Given the description of an element on the screen output the (x, y) to click on. 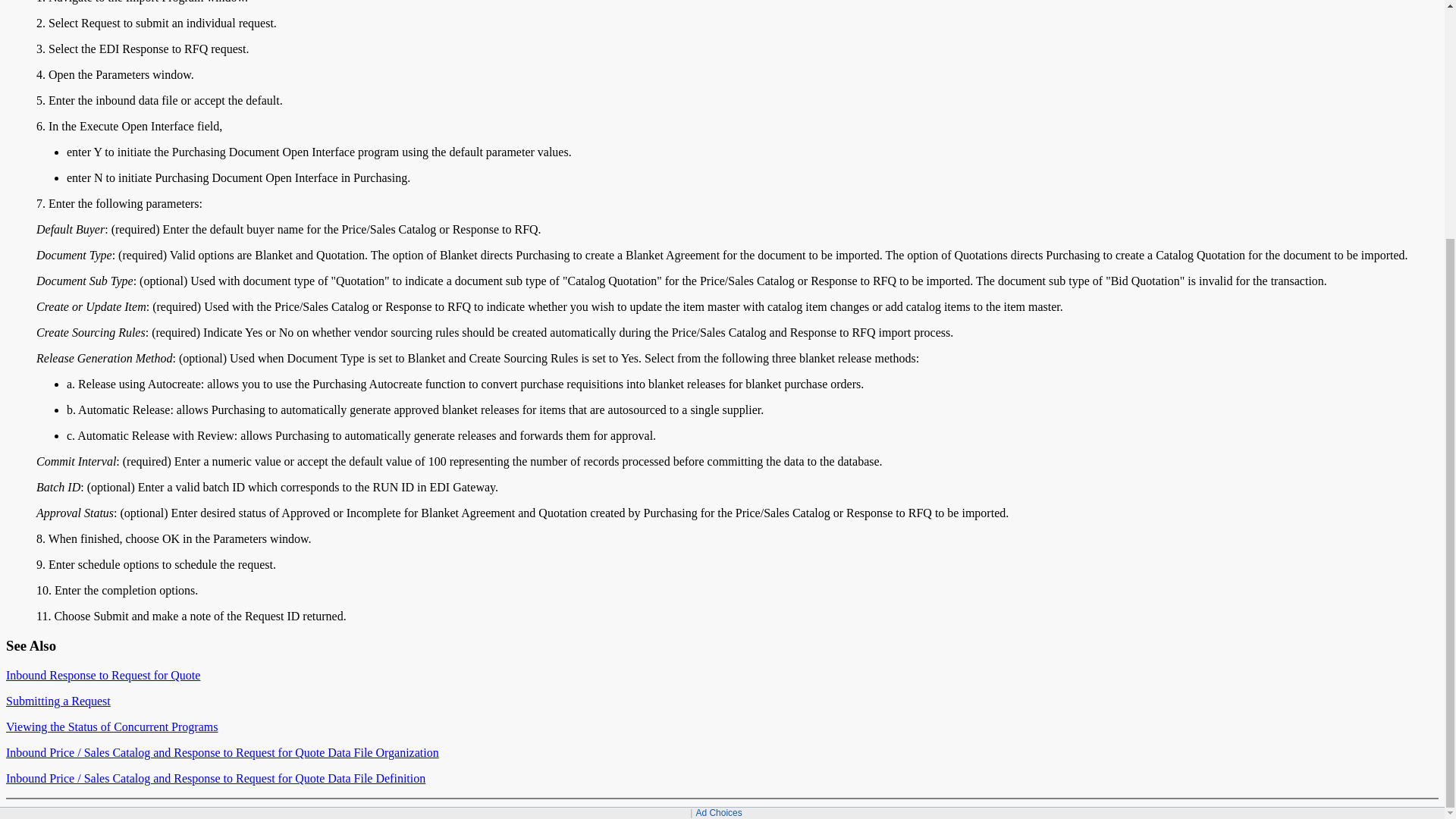
Index (1311, 810)
Submitting a Request (57, 700)
Library (1423, 810)
Viewing the Status of Concurrent Programs (110, 726)
Previous (1199, 810)
Next (1229, 810)
Navigation (1347, 810)
Glossary (1388, 810)
Inbound Response to Request for Quote (102, 675)
Contents (1279, 810)
Ad Choices (718, 484)
